Given the description of an element on the screen output the (x, y) to click on. 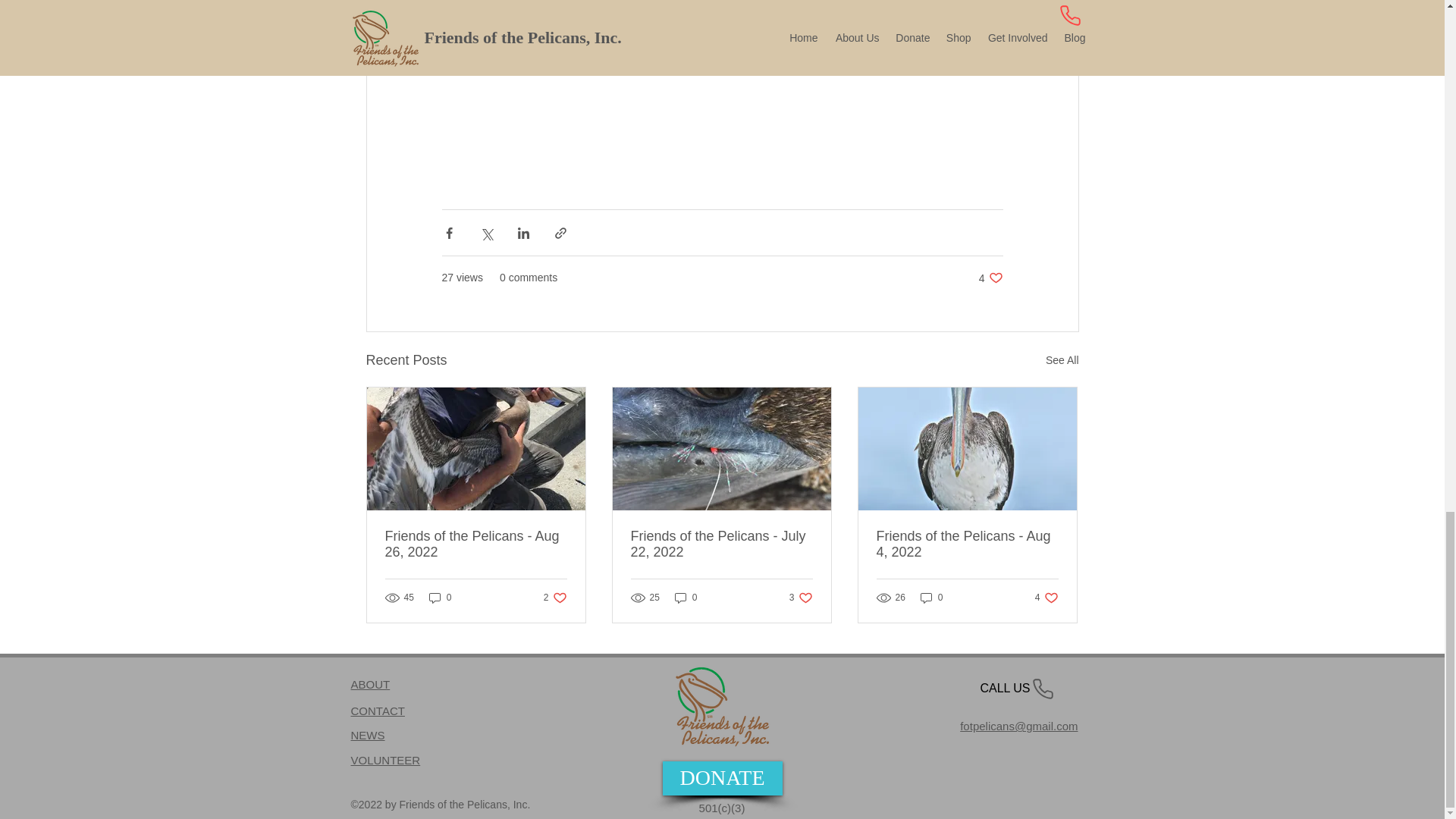
NEWS (555, 596)
Friends of the Pelicans - Aug 26, 2022 (367, 735)
0 (476, 544)
Friends of the Pelicans - July 22, 2022 (990, 278)
Friends of the Pelicans - Aug 4, 2022 (931, 596)
0 (721, 544)
ABOUT (967, 544)
CONTACT (440, 596)
